Given the description of an element on the screen output the (x, y) to click on. 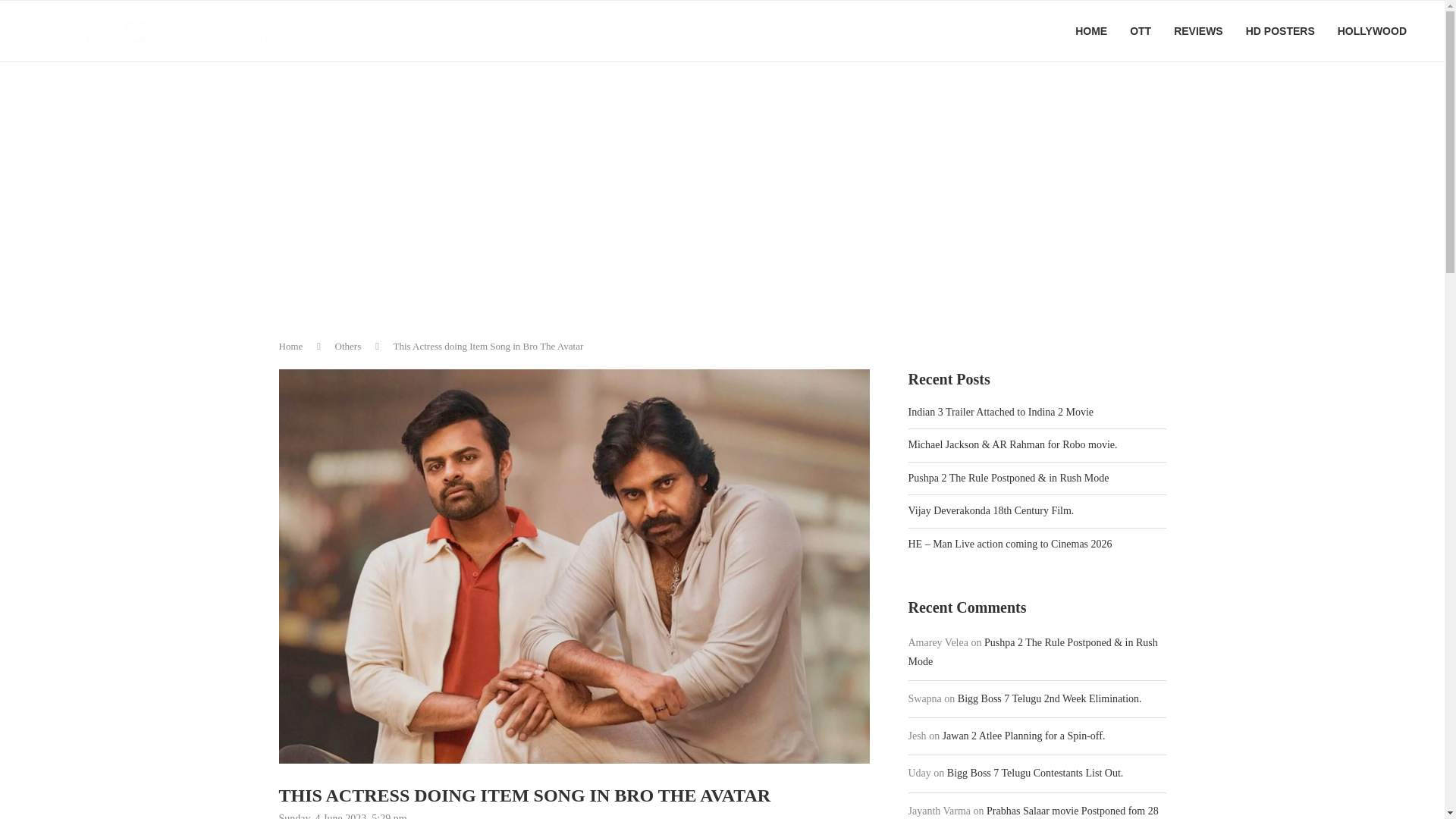
Others (347, 346)
Home (290, 346)
HD POSTERS (1280, 30)
HOLLYWOOD (1372, 30)
